Given the description of an element on the screen output the (x, y) to click on. 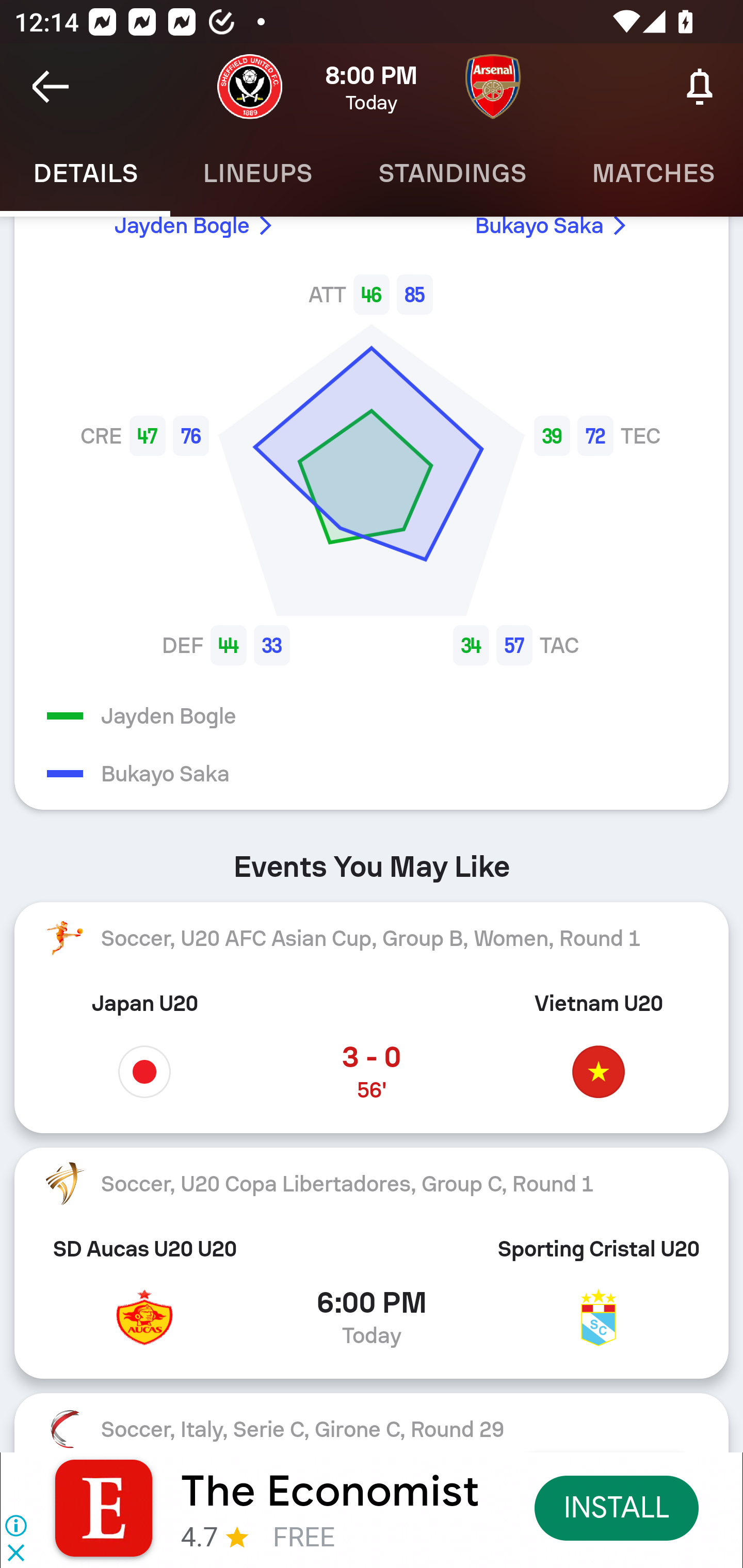
Navigate up (50, 86)
Lineups LINEUPS (257, 173)
Standings STANDINGS (451, 173)
Matches MATCHES (650, 173)
Events You May Like (371, 859)
Soccer, U20 AFC Asian Cup, Group B, Women, Round 1 (371, 937)
Soccer, U20 Copa Libertadores, Group C, Round 1 (371, 1183)
Soccer, Italy, Serie C, Girone C, Round 29 (371, 1421)
The Economist (329, 1490)
INSTALL (615, 1507)
